Given the description of an element on the screen output the (x, y) to click on. 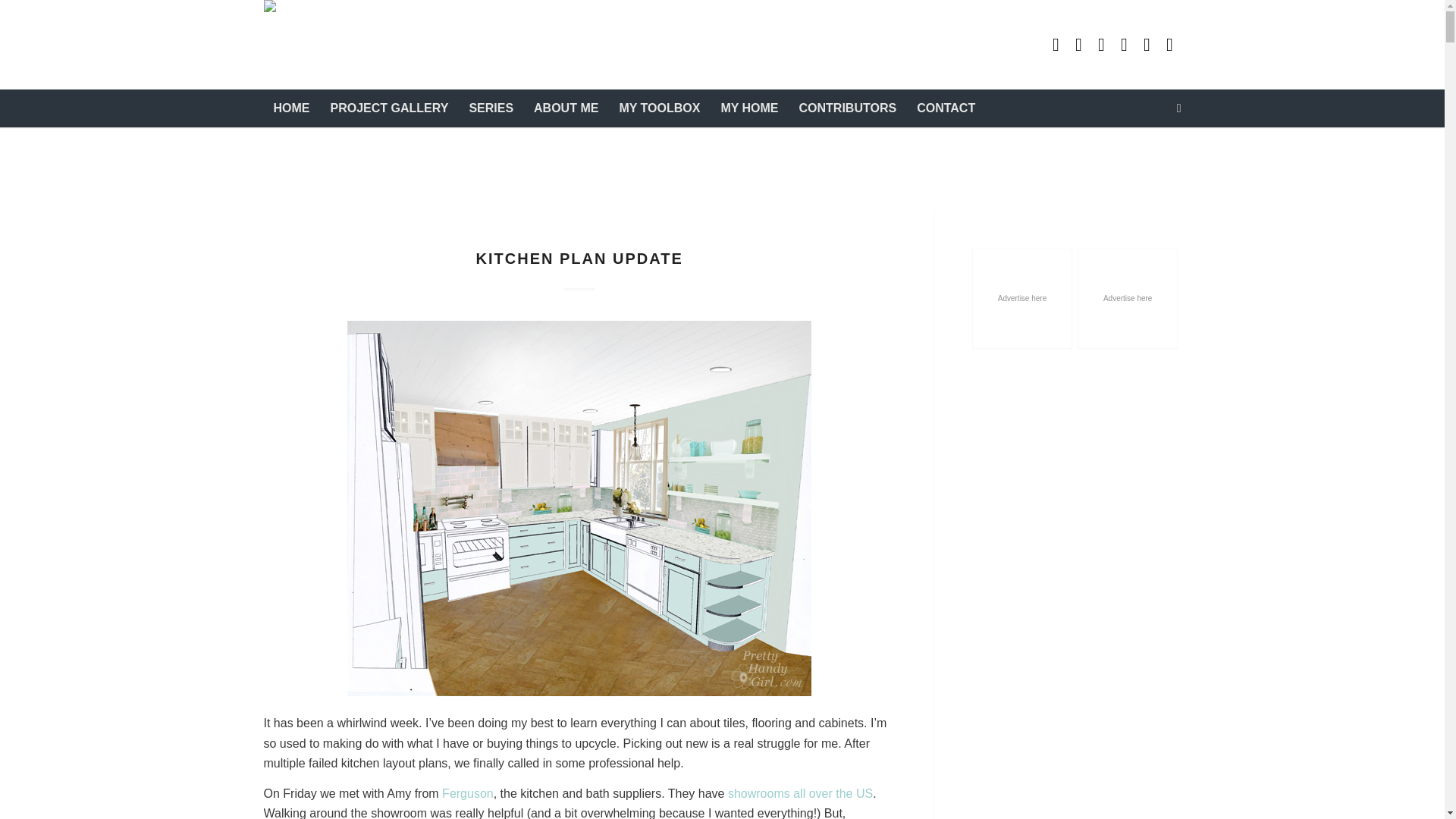
MY HOME (748, 108)
MY TOOLBOX (659, 108)
CONTRIBUTORS (848, 108)
ABOUT ME (565, 108)
CONTACT (945, 108)
Permanent Link: Kitchen Plan Update (579, 258)
Instagram (1124, 44)
PROJECT GALLERY (389, 108)
KITCHEN PLAN UPDATE (579, 258)
Twitter (1169, 44)
Facebook (1146, 44)
HOME (291, 108)
SERIES (490, 108)
Youtube (1056, 44)
Pinterest (1101, 44)
